Given the description of an element on the screen output the (x, y) to click on. 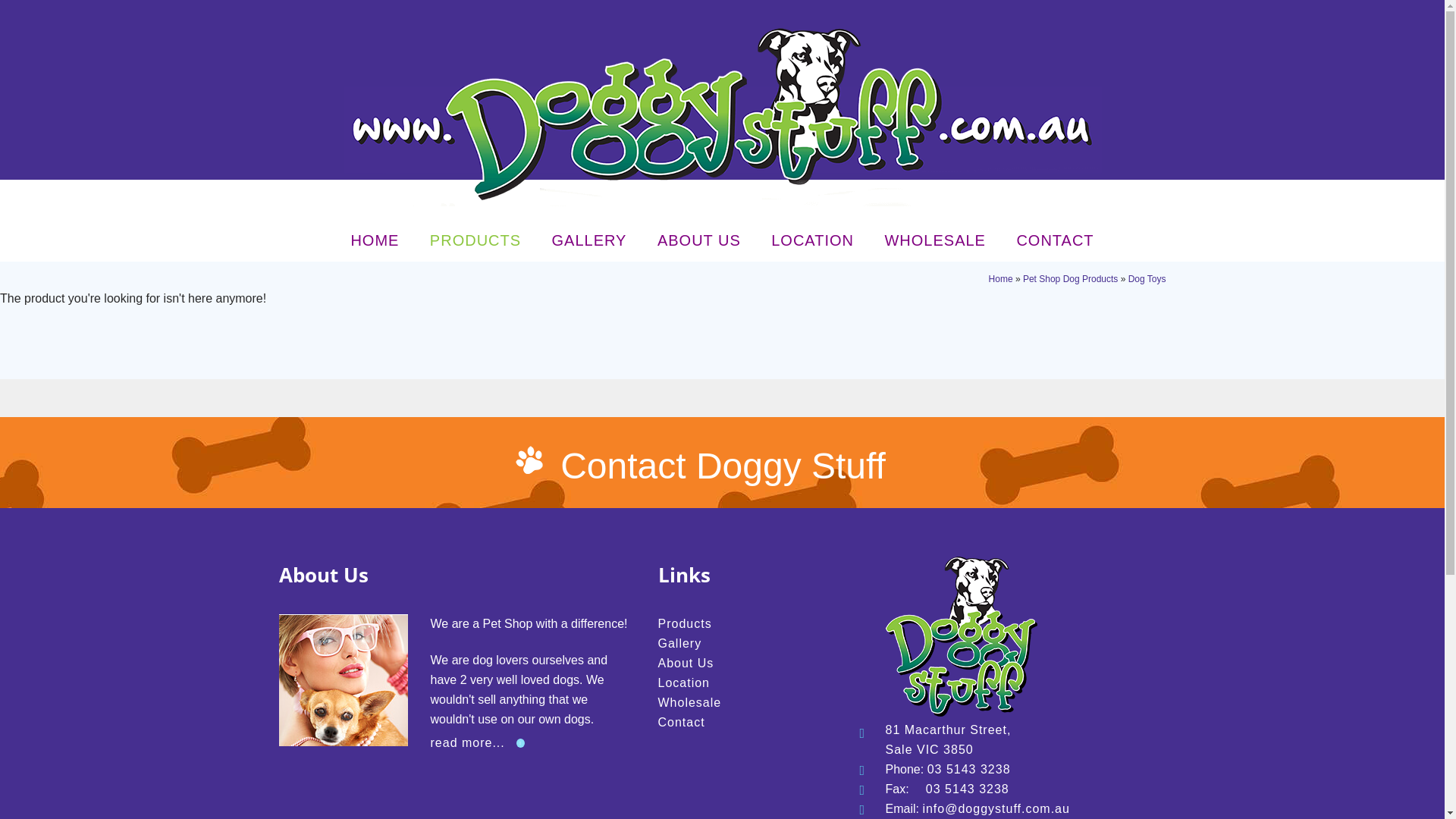
WHOLESALE Element type: text (934, 240)
03 5143 3238 Element type: text (967, 788)
PRODUCTS Element type: text (475, 240)
03 5143 3238 Element type: text (968, 768)
ABOUT US Element type: text (699, 240)
Dog Toys Element type: text (1147, 278)
81 Macarthur Street,
Sale VIC 3850 Element type: text (948, 739)
read more... Element type: text (473, 741)
info@doggystuff.com.au Element type: text (996, 808)
Gallery Element type: text (680, 643)
About Us Element type: text (686, 662)
Wholesale Element type: text (689, 702)
Doggy Stuff Element type: hover (721, 114)
HOME Element type: text (374, 240)
CONTACT Element type: text (1054, 240)
Pet Shop Dog Products Element type: text (1069, 278)
Home Element type: text (1000, 278)
Location Element type: text (684, 682)
GALLERY Element type: text (589, 240)
LOCATION Element type: text (812, 240)
Contact Element type: text (681, 721)
Contact Doggy Stuff Element type: text (722, 465)
Products Element type: text (685, 623)
